Given the description of an element on the screen output the (x, y) to click on. 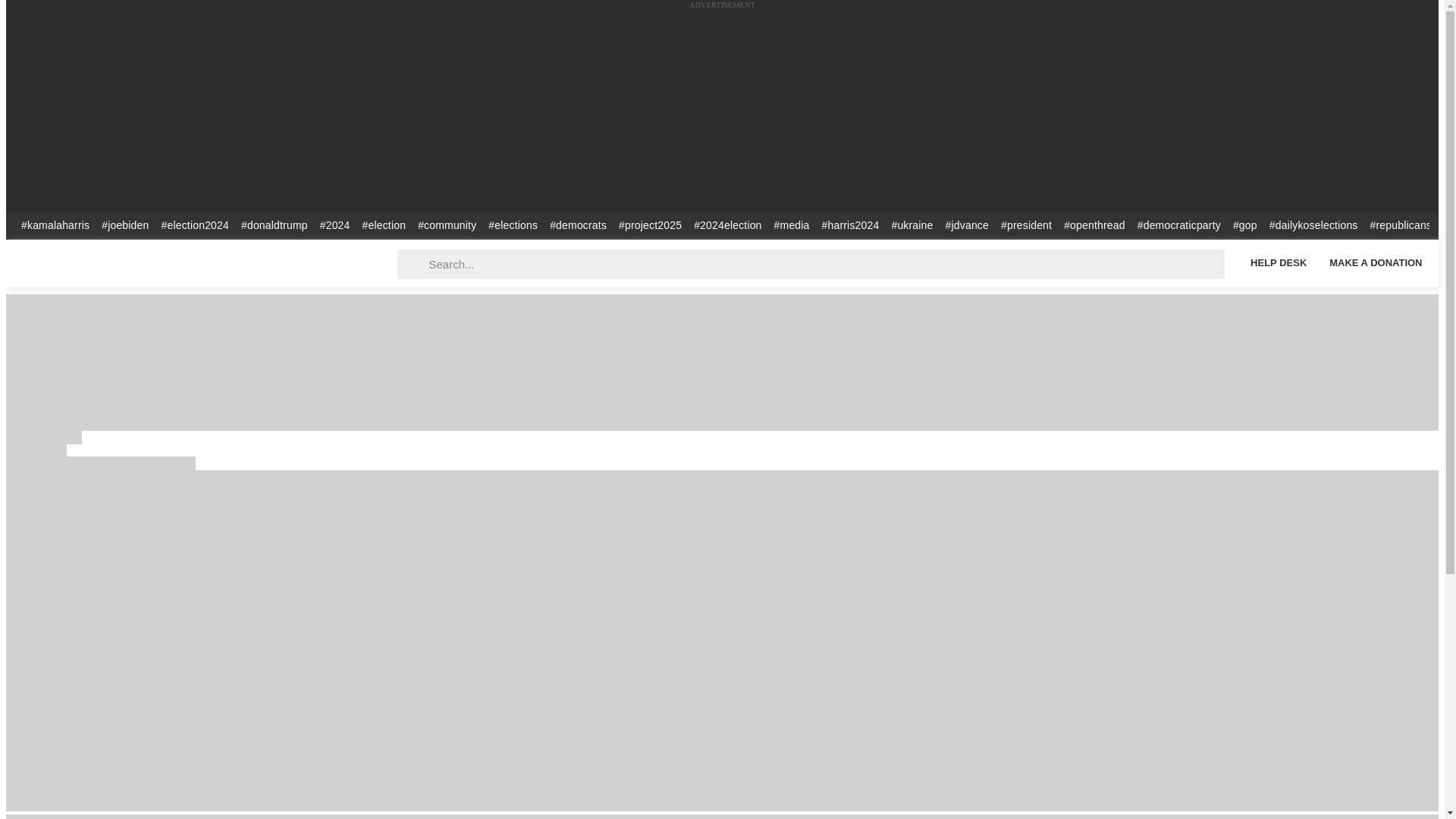
Help Desk (1277, 262)
Make a Donation (1375, 262)
MAKE A DONATION (1375, 262)
